Given the description of an element on the screen output the (x, y) to click on. 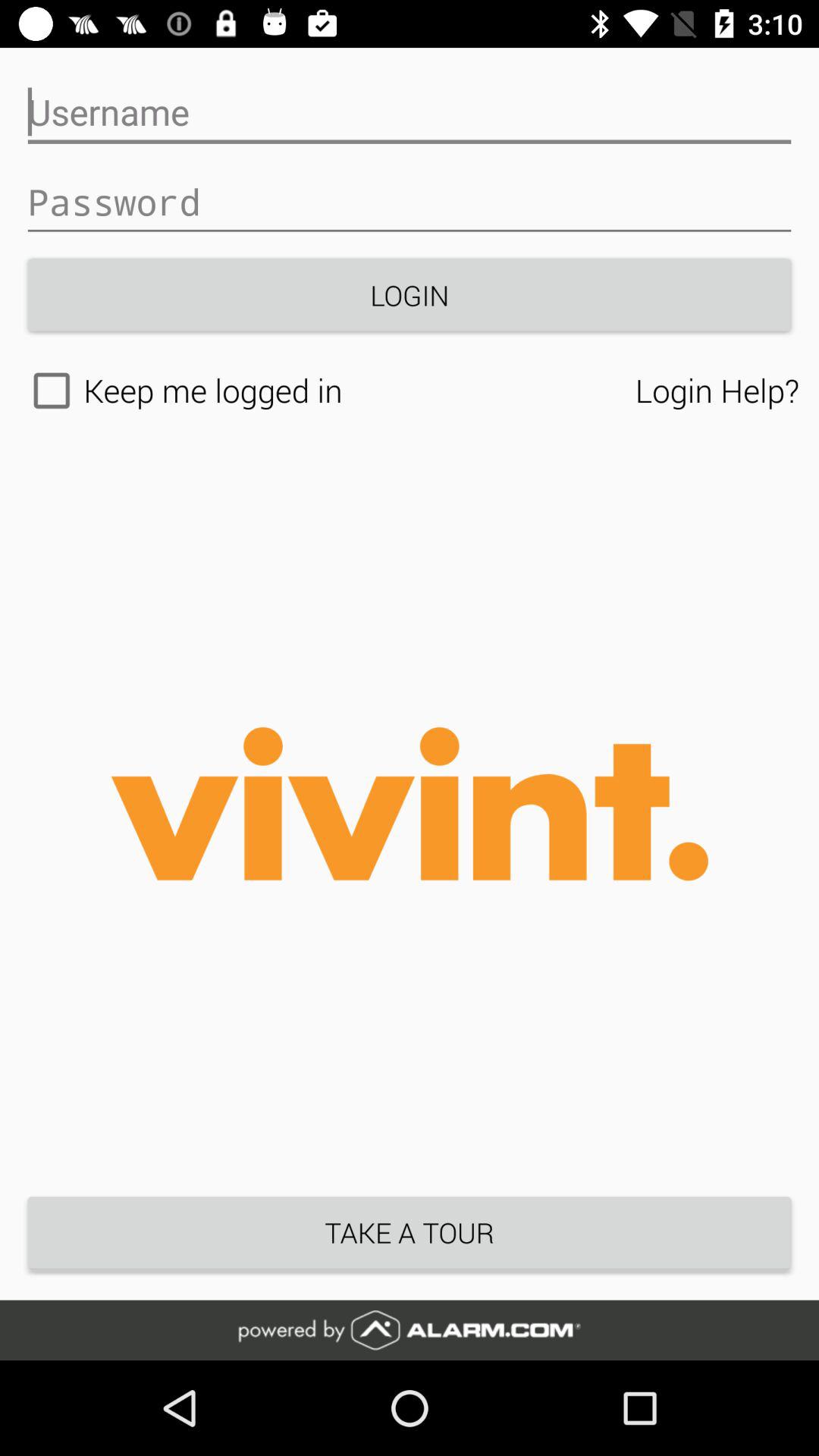
launch the item at the top right corner (717, 390)
